Given the description of an element on the screen output the (x, y) to click on. 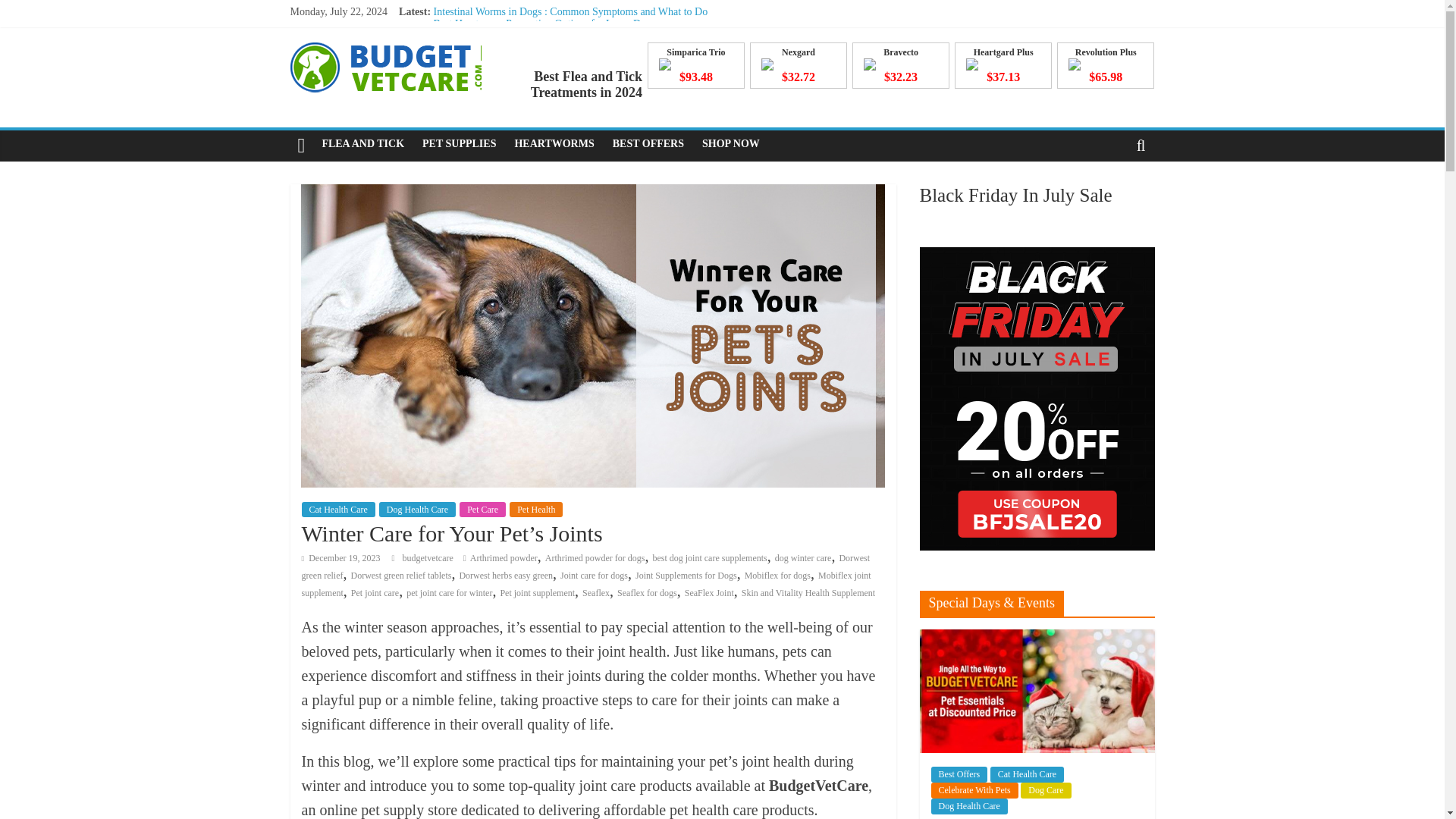
Mobiflex joint supplement (585, 584)
best dog joint care supplements (709, 557)
Best Heartworm Prevention Options for Large Dogs (544, 23)
Best Heartworm Prevention Options for Large Dogs (544, 23)
Intestinal Worms in Dogs : Common Symptoms and What to Do (570, 11)
budgetvetcare (427, 557)
Joint Supplements for Dogs (685, 575)
How Frequently Your Cat Needs to Be Dewormed? (542, 60)
Joint care for dogs (593, 575)
dog winter care (802, 557)
Dorwest herbs easy green (505, 575)
Arthrimed powder (503, 557)
Pet Care (482, 509)
Dorwest green relief tablets (400, 575)
9:02 am (340, 557)
